Given the description of an element on the screen output the (x, y) to click on. 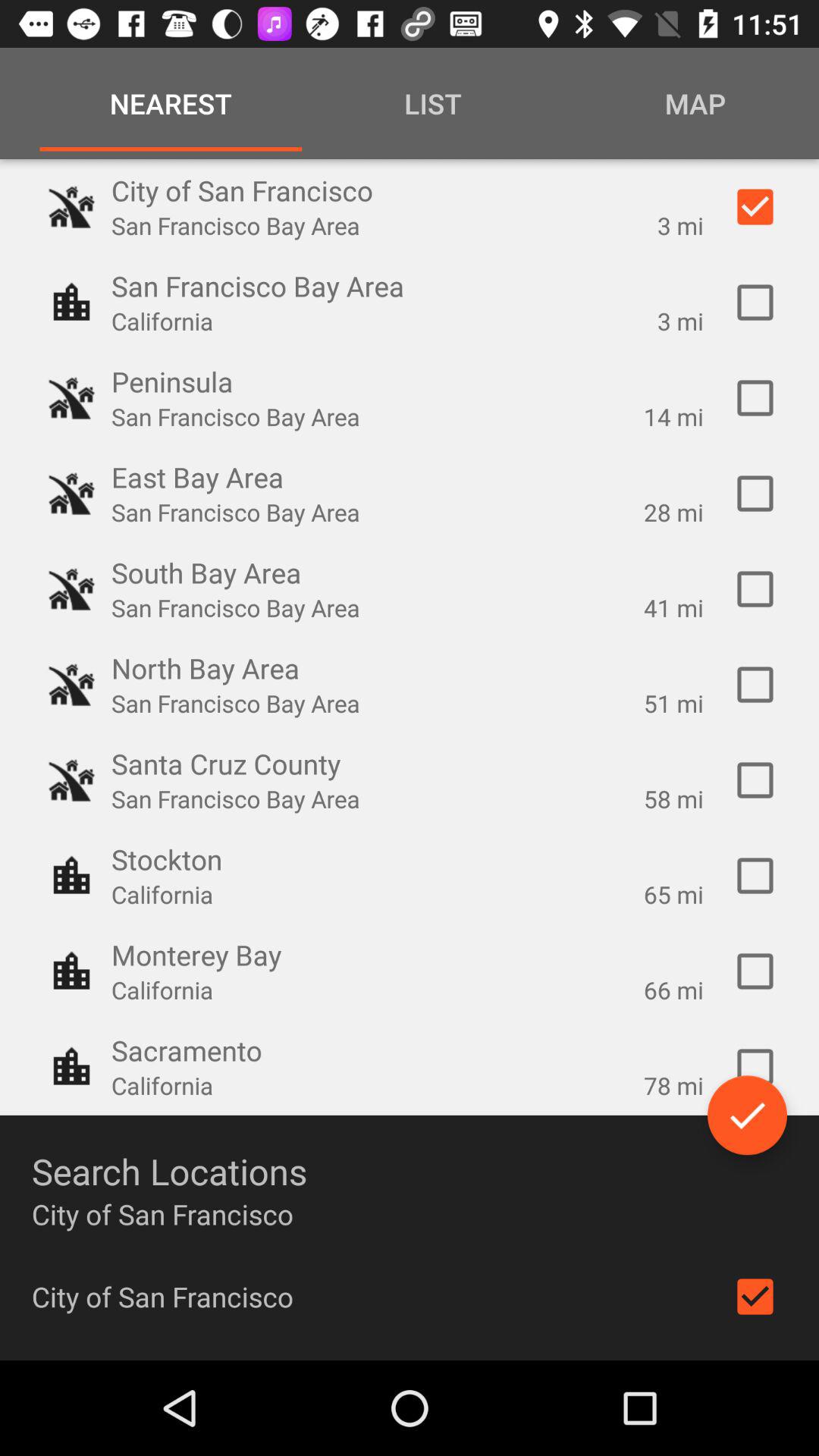
select this city (755, 493)
